Given the description of an element on the screen output the (x, y) to click on. 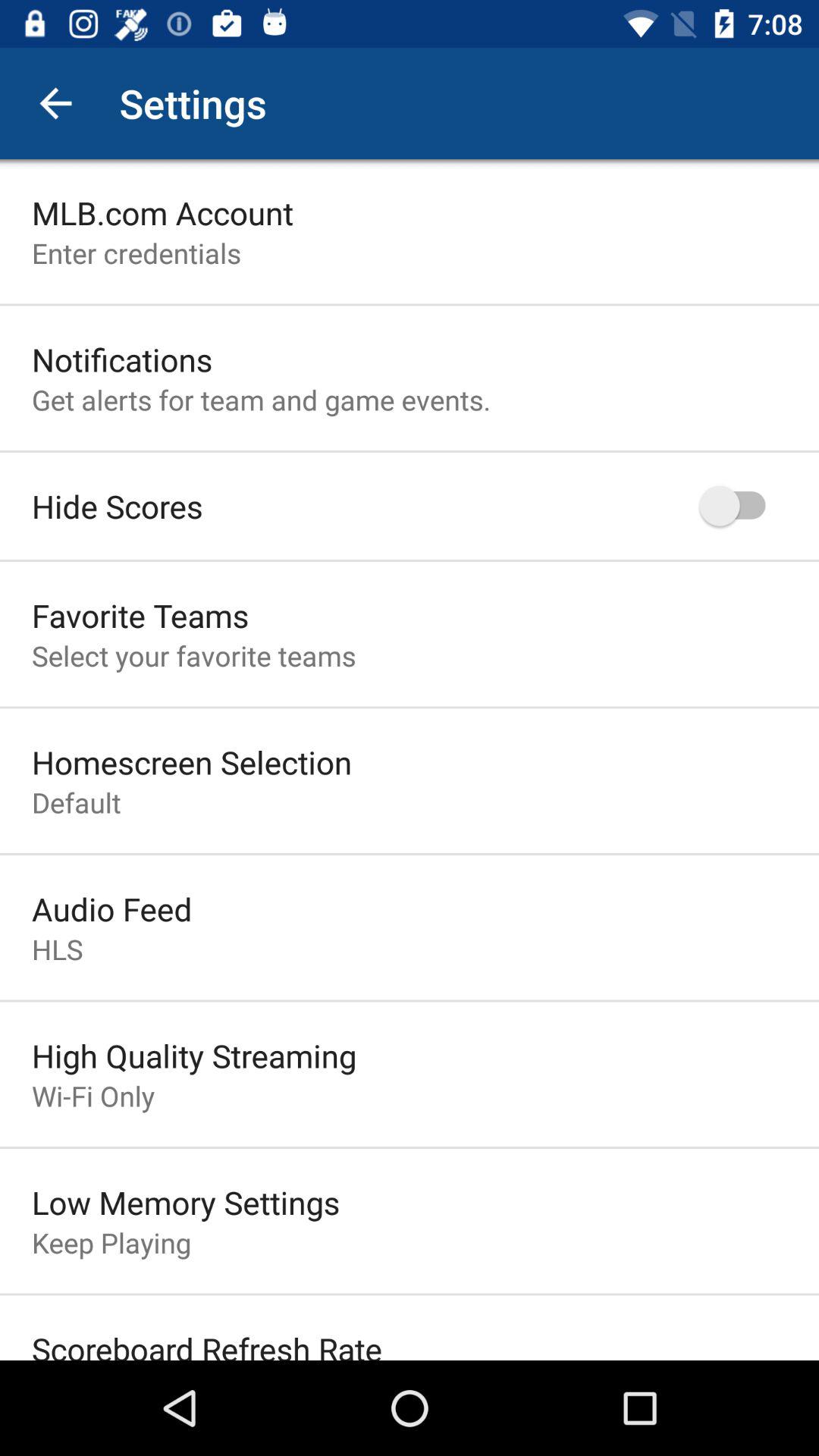
click icon to the right of hide scores icon (739, 505)
